Given the description of an element on the screen output the (x, y) to click on. 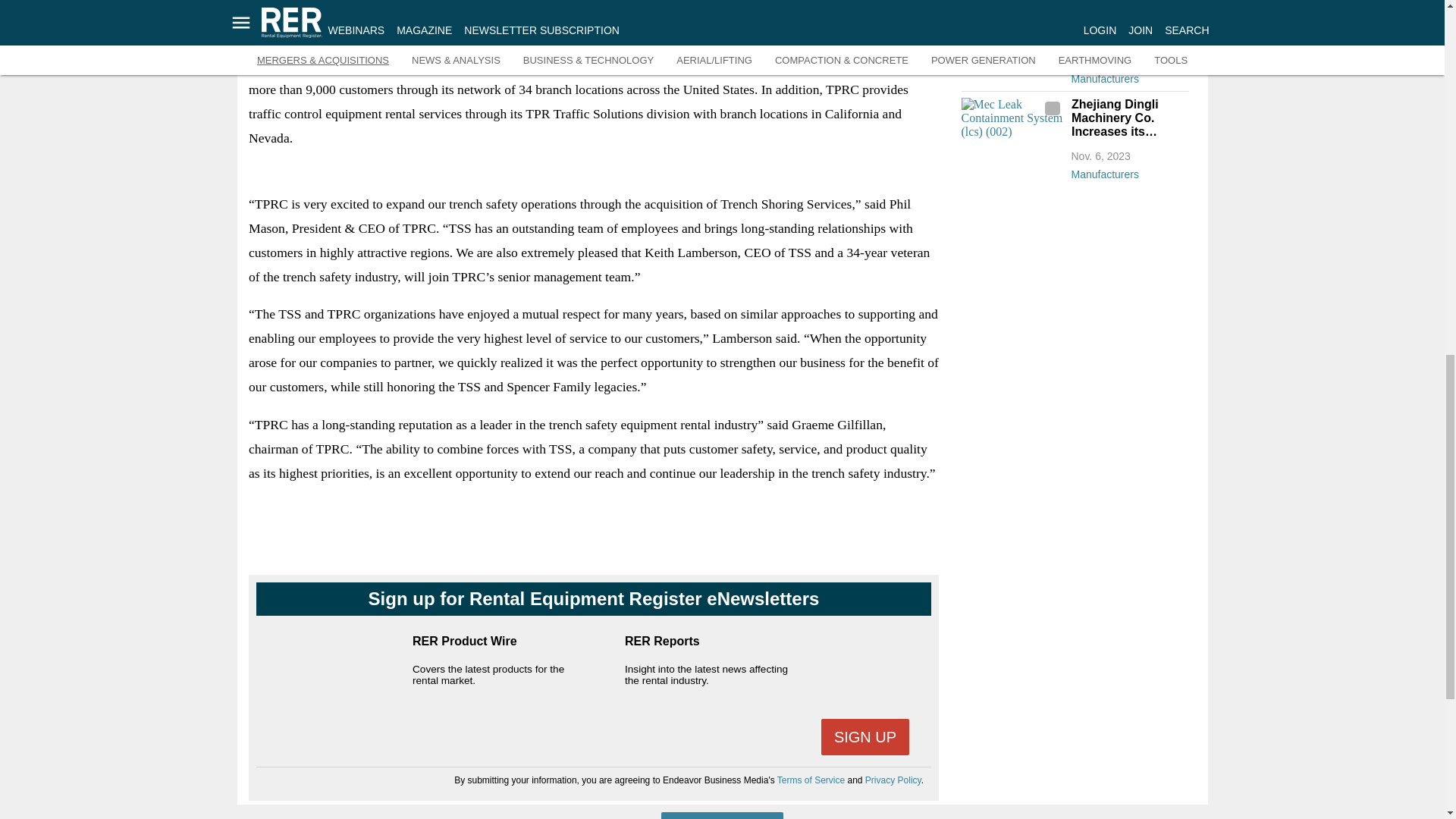
Volvo Ecr25 Electric Charging 2022 (1012, 30)
